Given the description of an element on the screen output the (x, y) to click on. 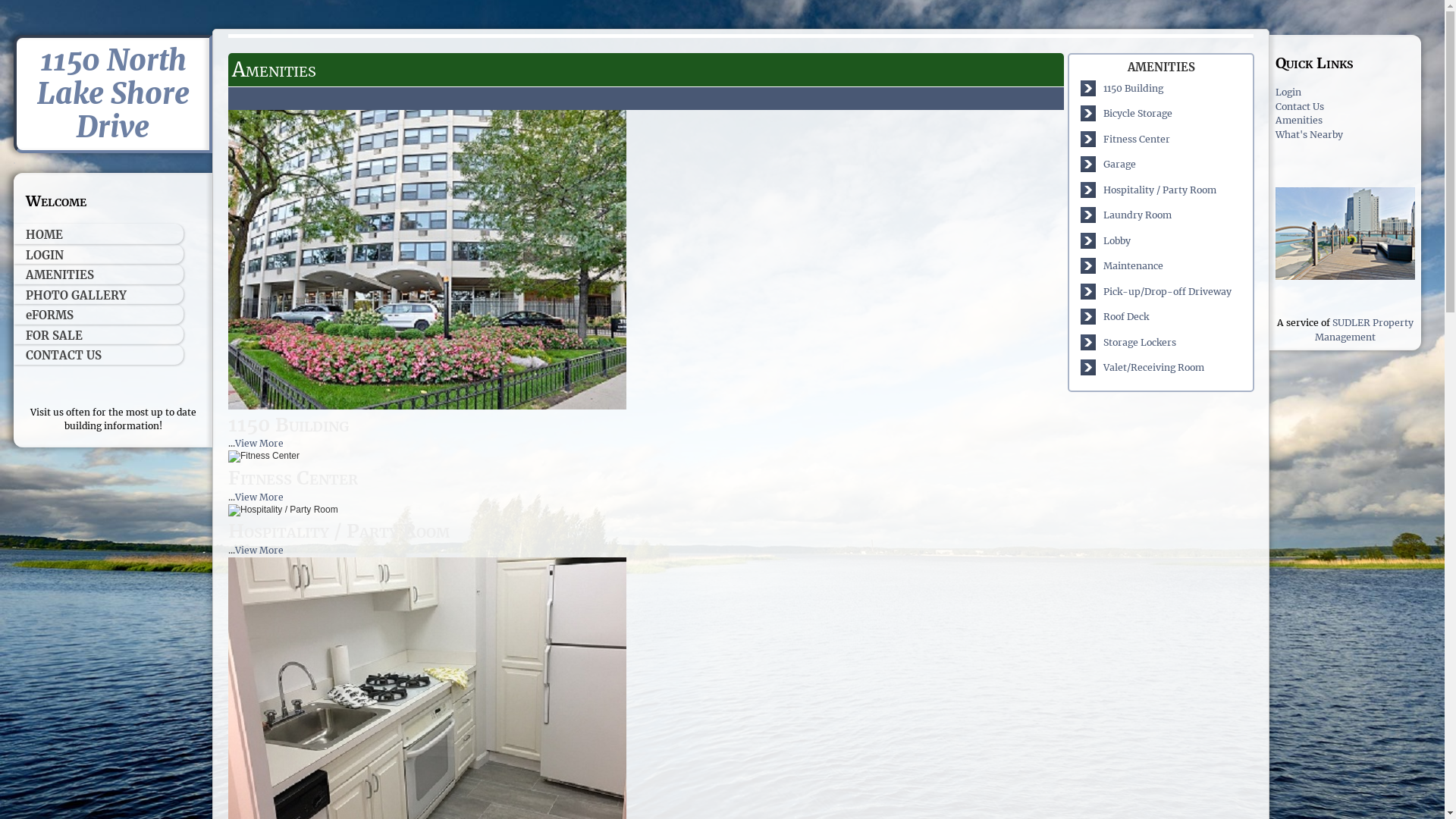
Maintenance Element type: text (1133, 265)
Valet/Receiving Room Element type: text (1153, 367)
CONTACT US Element type: text (98, 354)
Garage Element type: text (1119, 163)
AMENITIES Element type: text (98, 273)
View More Element type: text (259, 496)
Pick-up/Drop-off Driveway Element type: text (1167, 291)
Hospitality / Party Room Element type: hover (283, 510)
Lobby Element type: text (1116, 240)
Login Element type: text (1288, 91)
1150 Building Element type: hover (427, 259)
FOR SALE Element type: text (98, 334)
PHOTO GALLERY Element type: text (98, 294)
What's Nearby Element type: text (1309, 134)
LOGIN Element type: text (98, 254)
eFORMS Element type: text (98, 314)
View More Element type: text (259, 549)
Contact Us Element type: text (1299, 106)
Storage Lockers Element type: text (1139, 342)
Hospitality / Party Room Element type: text (1159, 189)
View More Element type: text (259, 442)
Fitness Center Element type: hover (263, 456)
1150 Building Element type: text (1133, 88)
Laundry Room Element type: text (1137, 214)
HOME Element type: text (98, 233)
SUDLER Property Management Element type: text (1363, 329)
Roof Deck Element type: text (1125, 316)
Amenities Element type: text (1298, 119)
Fitness Center Element type: text (1136, 138)
Bicycle Storage Element type: text (1137, 113)
